Given the description of an element on the screen output the (x, y) to click on. 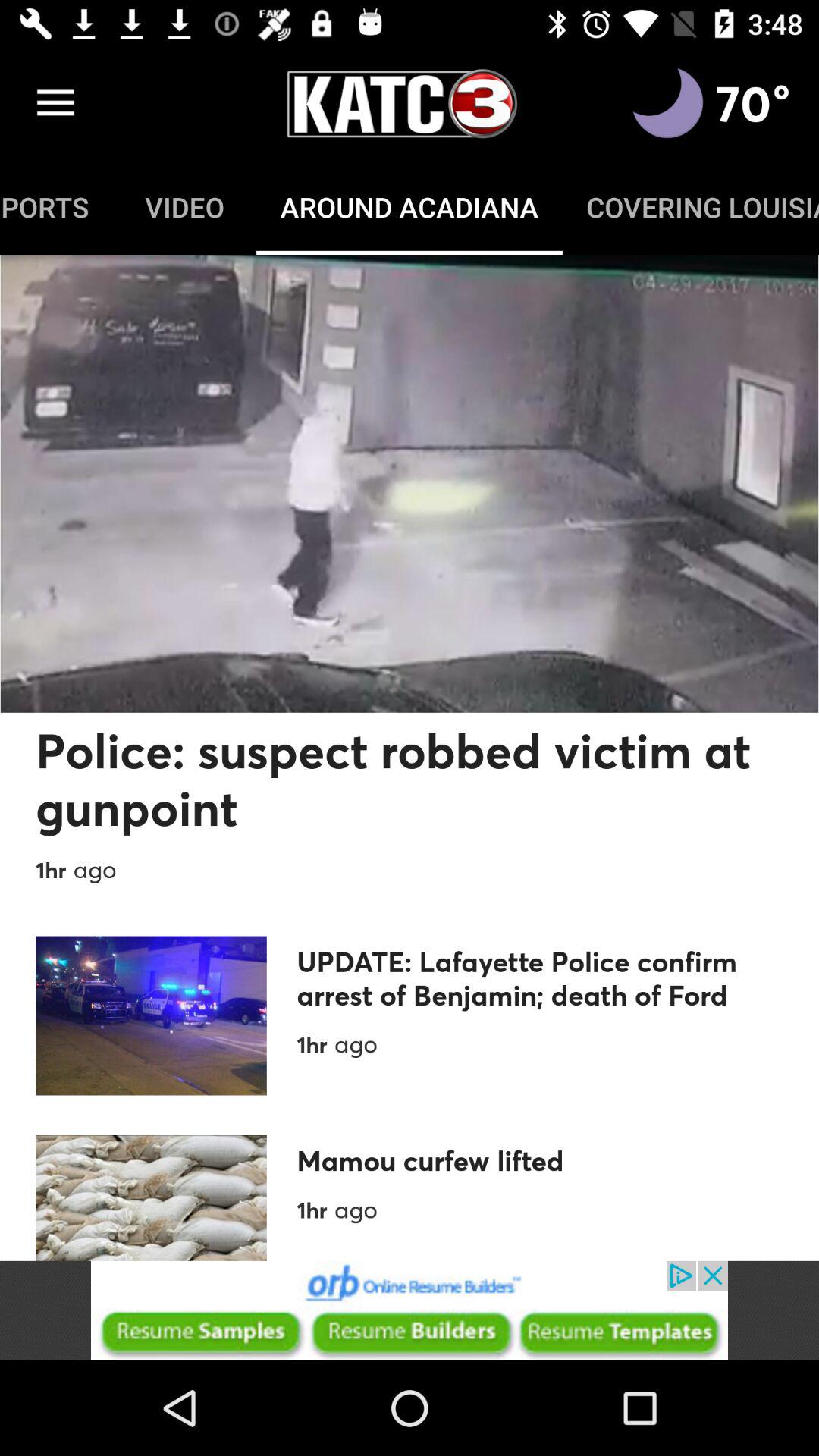
opens advertisement (409, 1310)
